Given the description of an element on the screen output the (x, y) to click on. 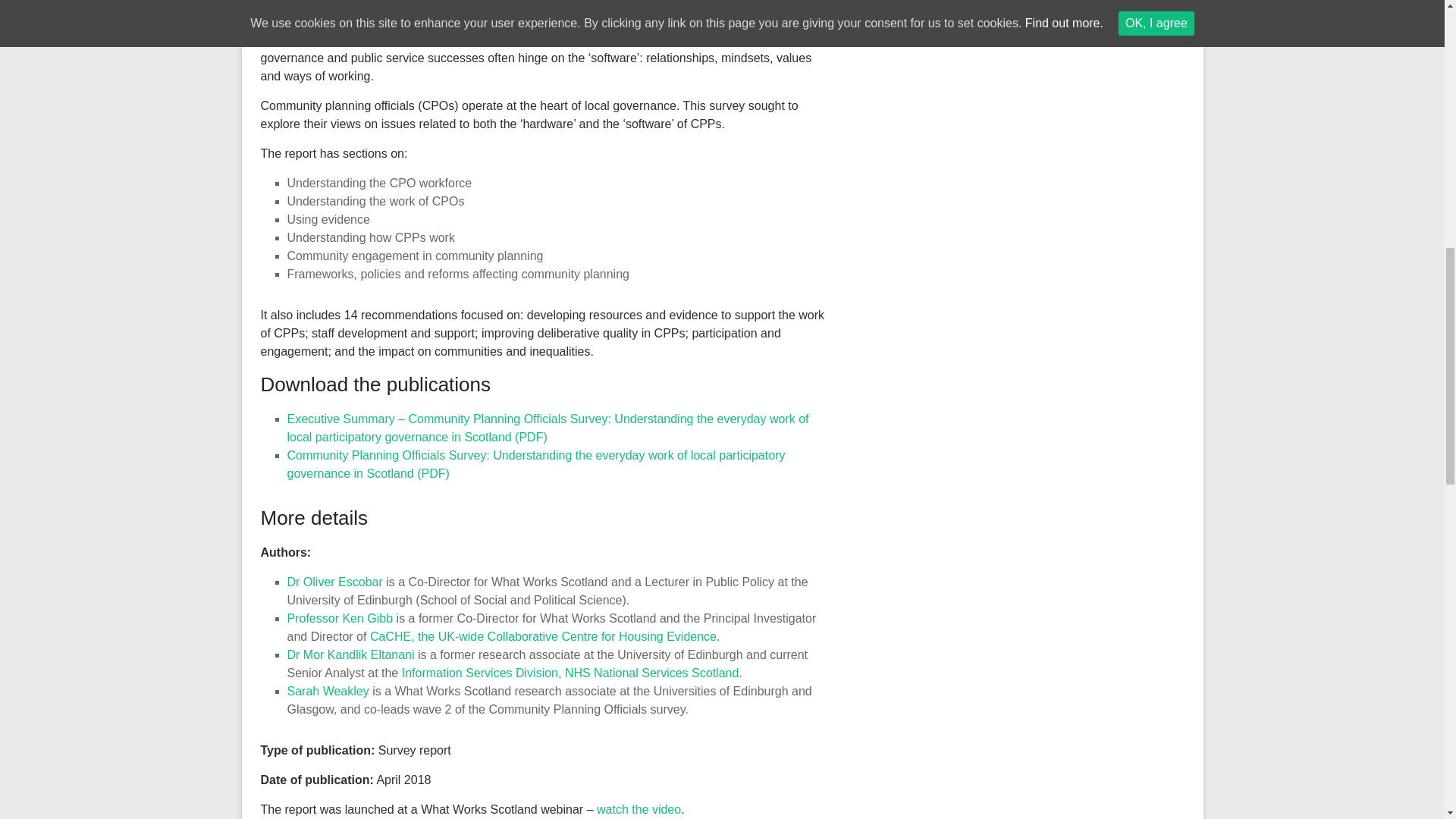
CaCHE, the UK-wide Collaborative Centre for Housing Evidence (542, 635)
Dr Oliver Escobar (333, 581)
Sarah Weakley (327, 690)
Professor Ken Gibb (339, 617)
Dr Mor Kandlik Eltanani (349, 654)
